Given the description of an element on the screen output the (x, y) to click on. 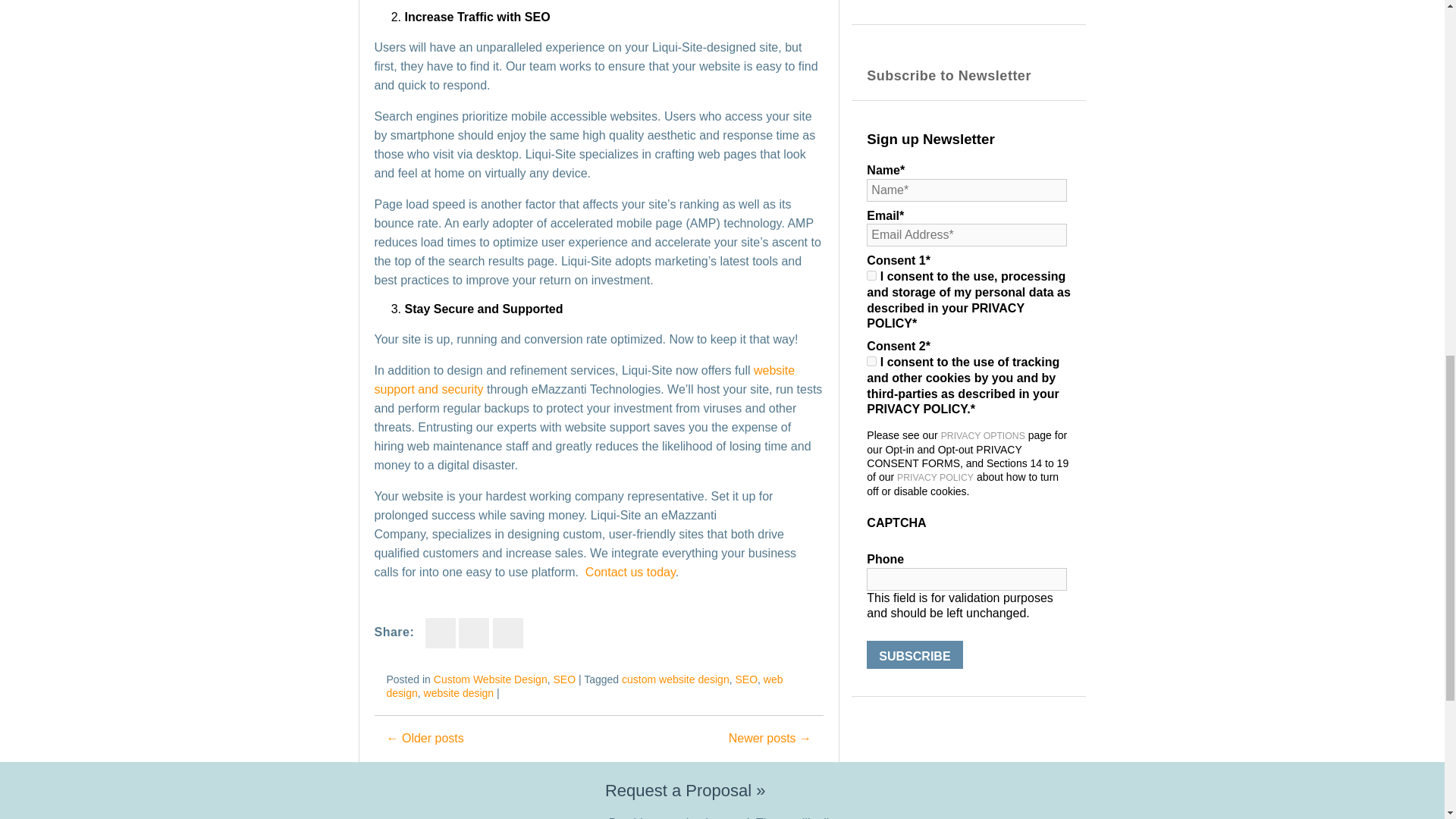
1 (871, 275)
1 (871, 361)
Custom Website Design (490, 679)
SUBSCRIBE (914, 654)
website support and security (584, 379)
Share on Facebook (440, 633)
custom website design (675, 679)
Contact us today (630, 571)
Share on Twitter (473, 633)
web design (585, 686)
SEO (564, 679)
SEO (746, 679)
